Given the description of an element on the screen output the (x, y) to click on. 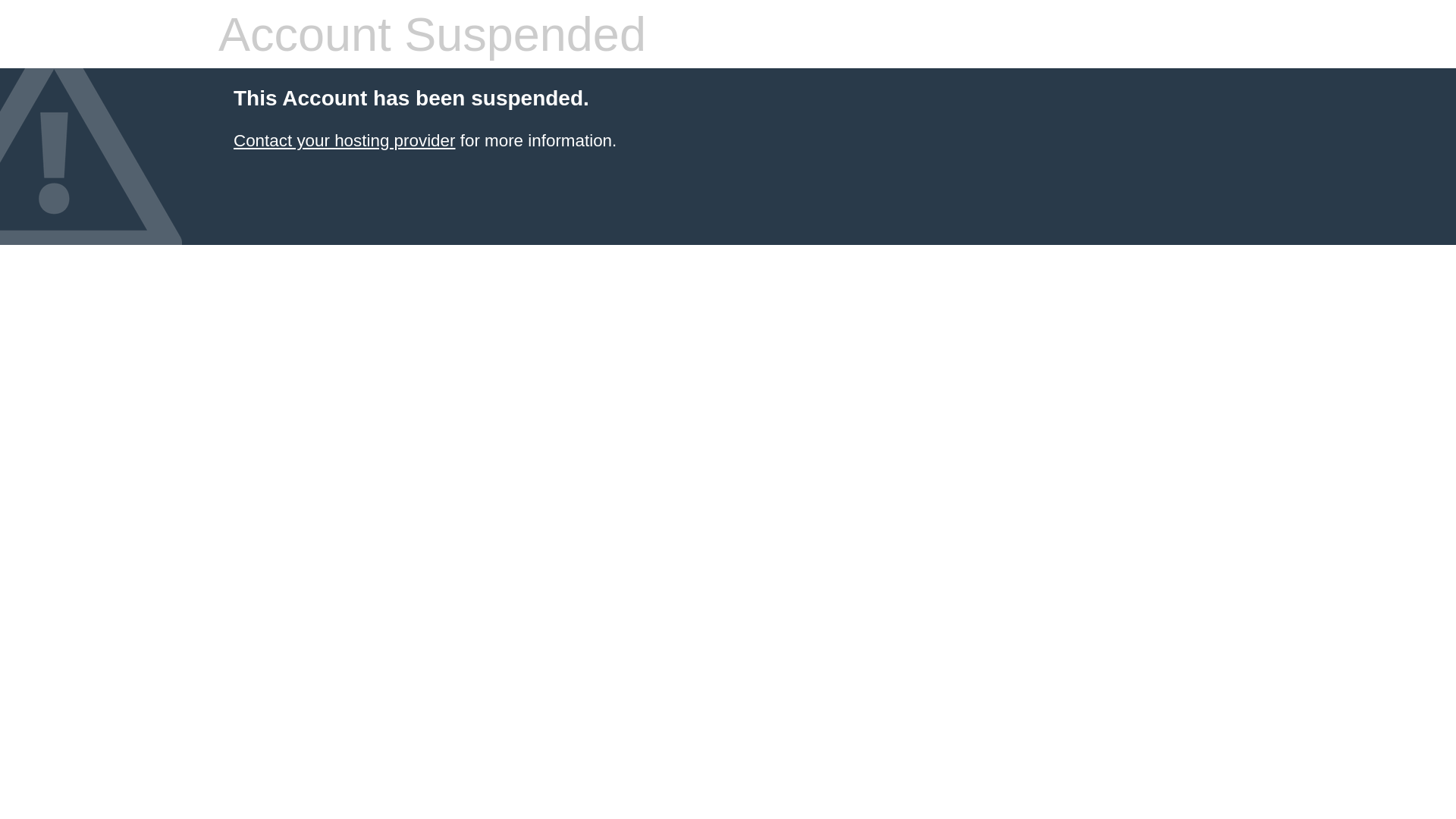
Contact your hosting provider Element type: text (344, 140)
